Given the description of an element on the screen output the (x, y) to click on. 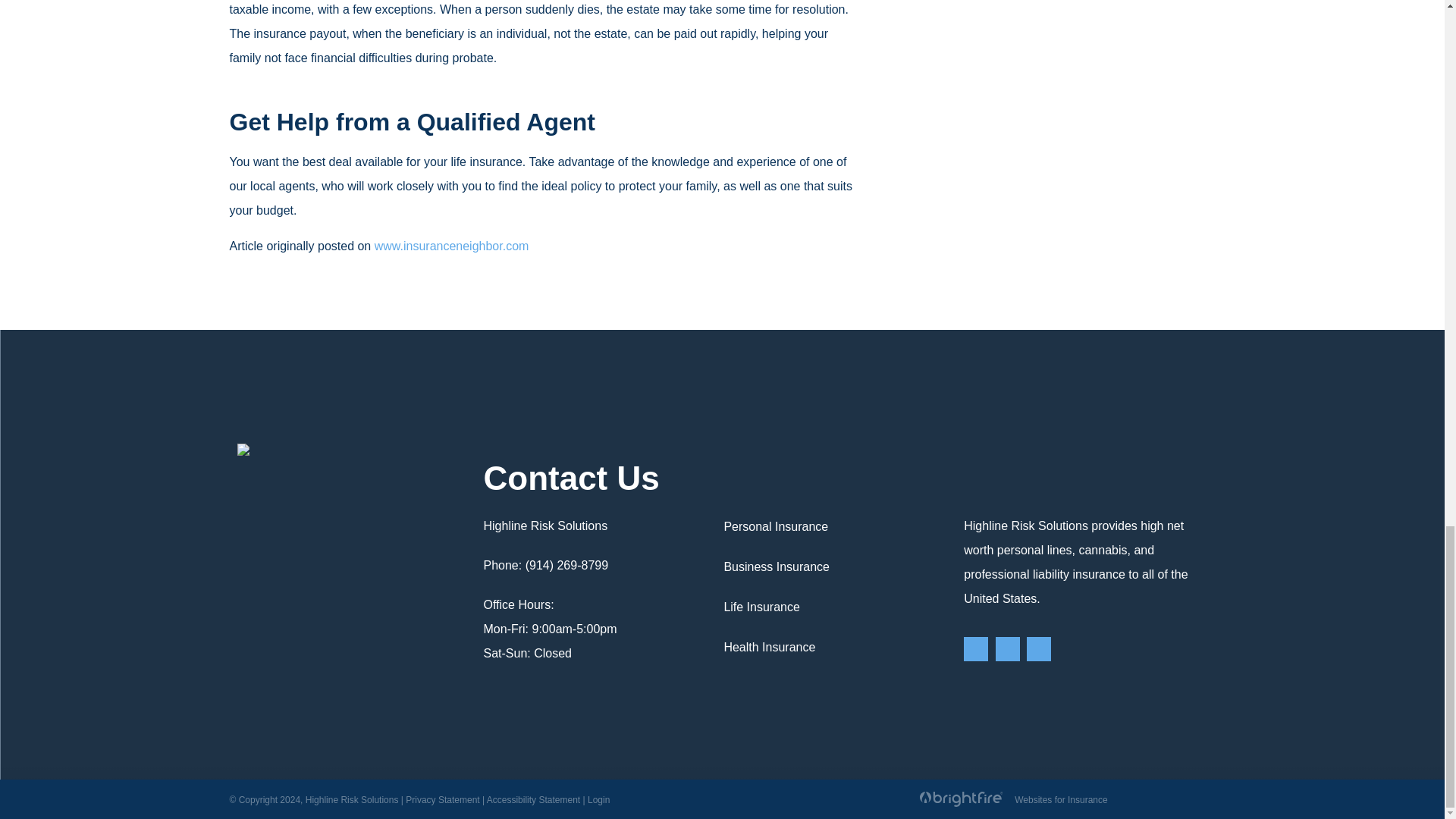
Highline-Risk-Solutions-logo-white (241, 449)
